Given the description of an element on the screen output the (x, y) to click on. 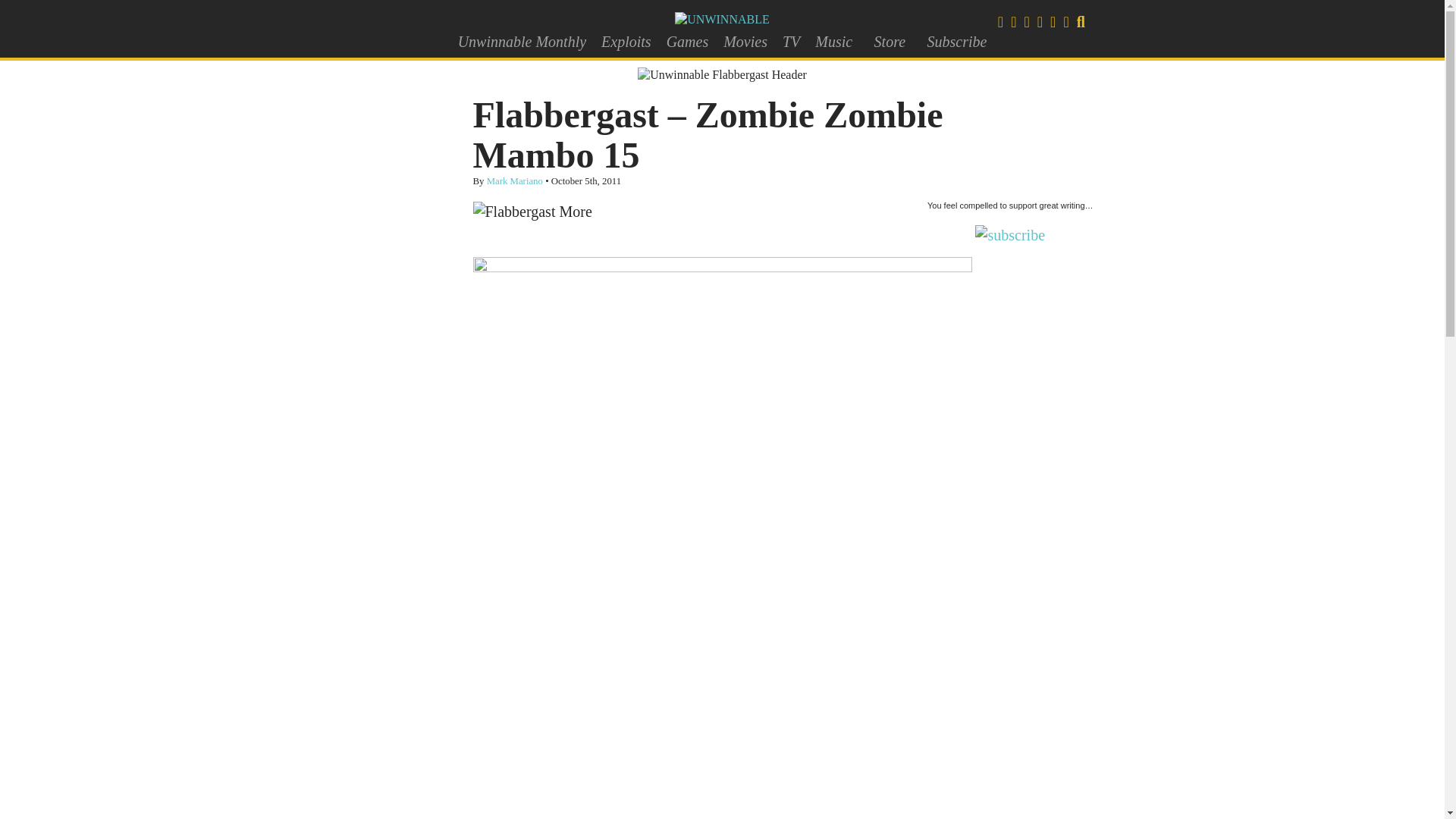
Subscribe (956, 41)
Flabbergast More (532, 211)
Games (687, 41)
Unwinnable Monthly (521, 41)
Mark Mariano (514, 181)
Store (889, 41)
Exploits (626, 41)
Posts by Mark Mariano (514, 181)
Music (834, 41)
TV (791, 41)
Movies (745, 41)
